Given the description of an element on the screen output the (x, y) to click on. 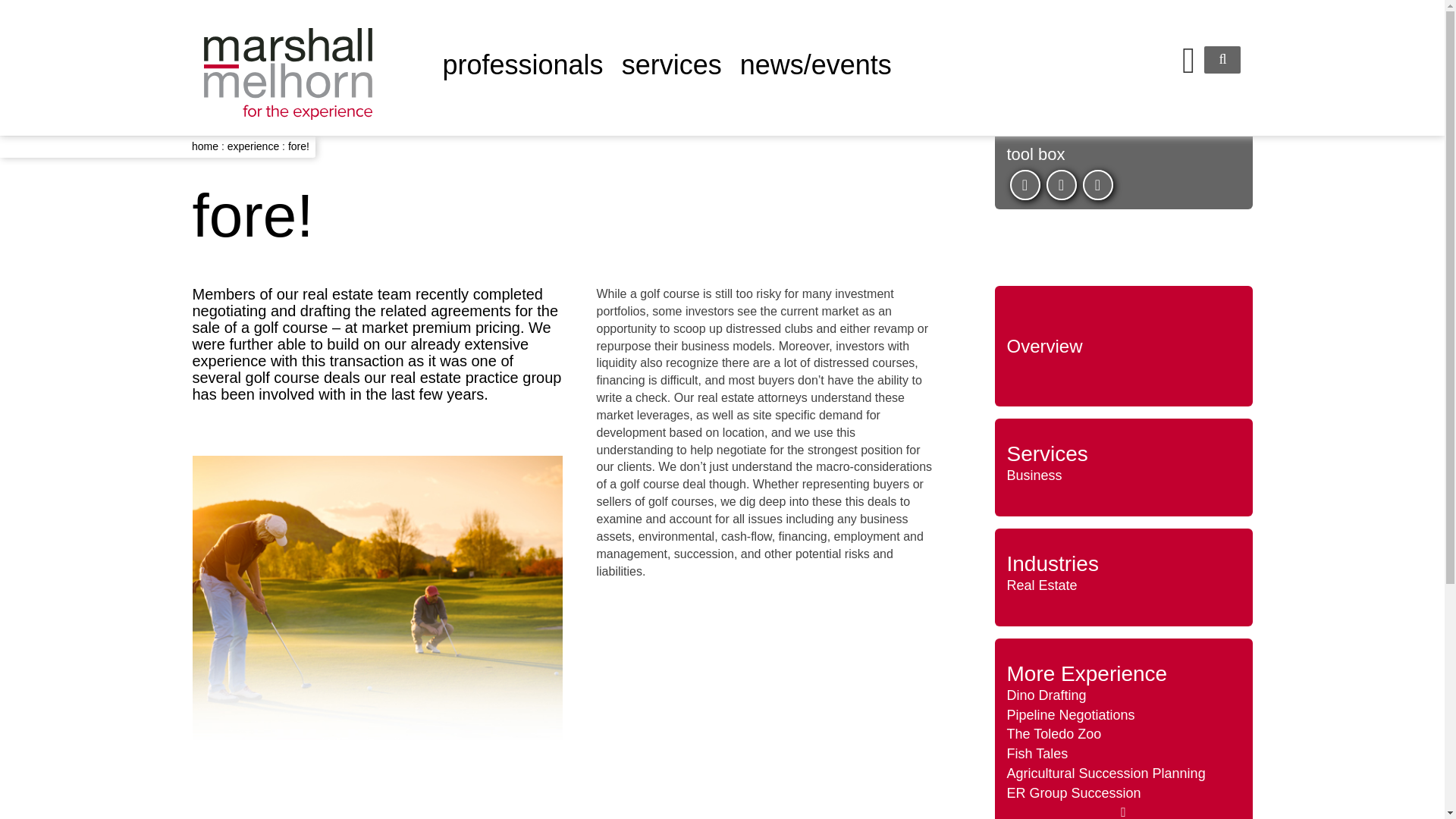
Real Estate (1042, 585)
Dino Drafting (1046, 694)
ER Group Succession (1074, 792)
Agricultural Succession Planning (1106, 773)
Overview (1045, 345)
The Toledo Zoo (1054, 734)
Pipeline Negotiations (1071, 714)
services (671, 64)
experience (253, 146)
Business (1034, 475)
